Given the description of an element on the screen output the (x, y) to click on. 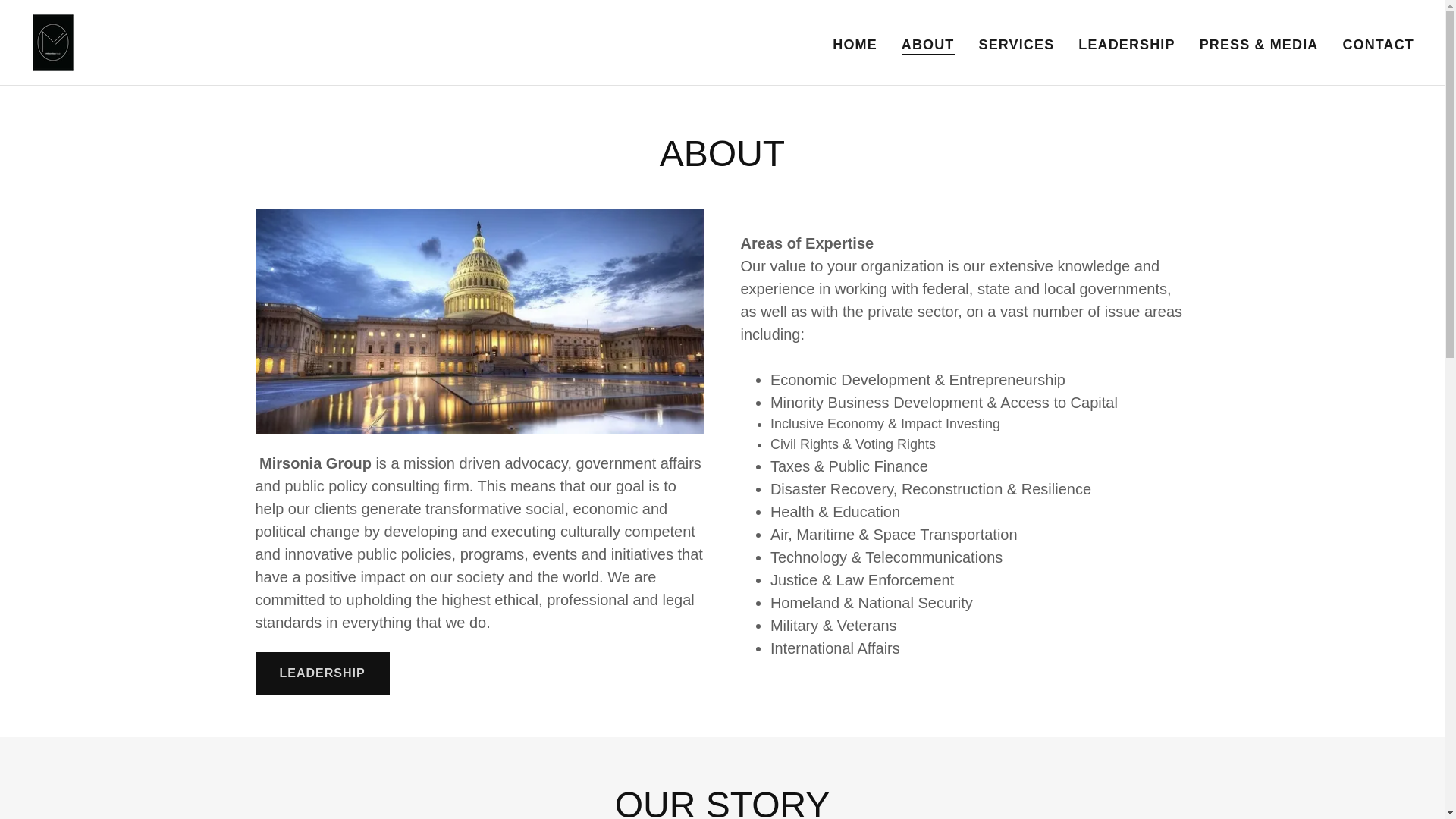
LEADERSHIP (321, 672)
LEADERSHIP (1126, 43)
ABOUT (928, 44)
SERVICES (1016, 43)
HOME (855, 43)
CONTACT (1378, 43)
Mirsonia Group (52, 41)
